Given the description of an element on the screen output the (x, y) to click on. 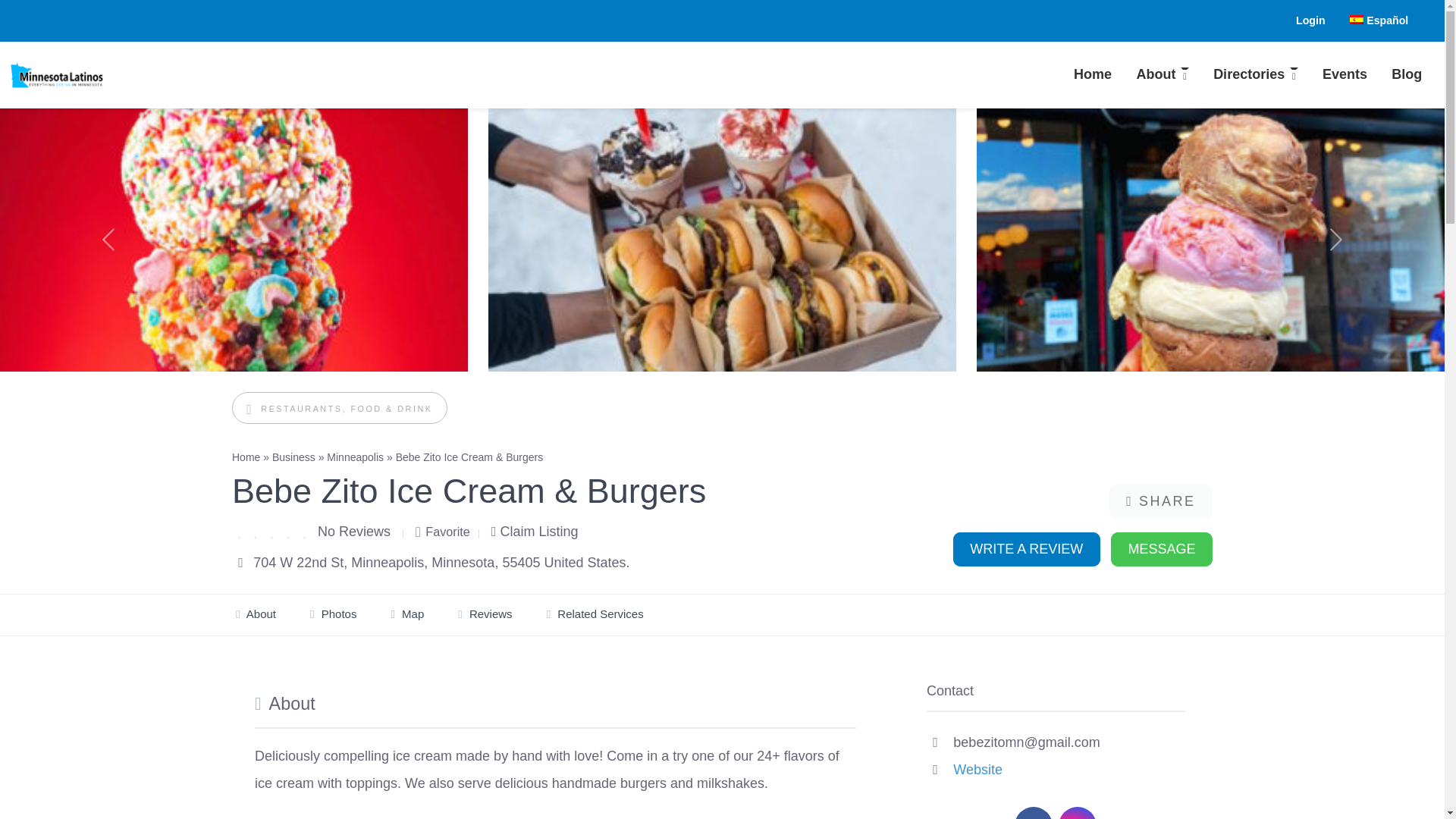
Claim Listing (535, 531)
Blog (1406, 75)
Home (1092, 75)
No Reviews (353, 531)
Login (1311, 20)
Directories (1255, 75)
Blog (1406, 75)
Login (1311, 20)
About (1162, 75)
Home (245, 457)
Directories (1255, 75)
Events (1344, 75)
Business (293, 457)
Home (1092, 75)
Minneapolis (355, 457)
